Given the description of an element on the screen output the (x, y) to click on. 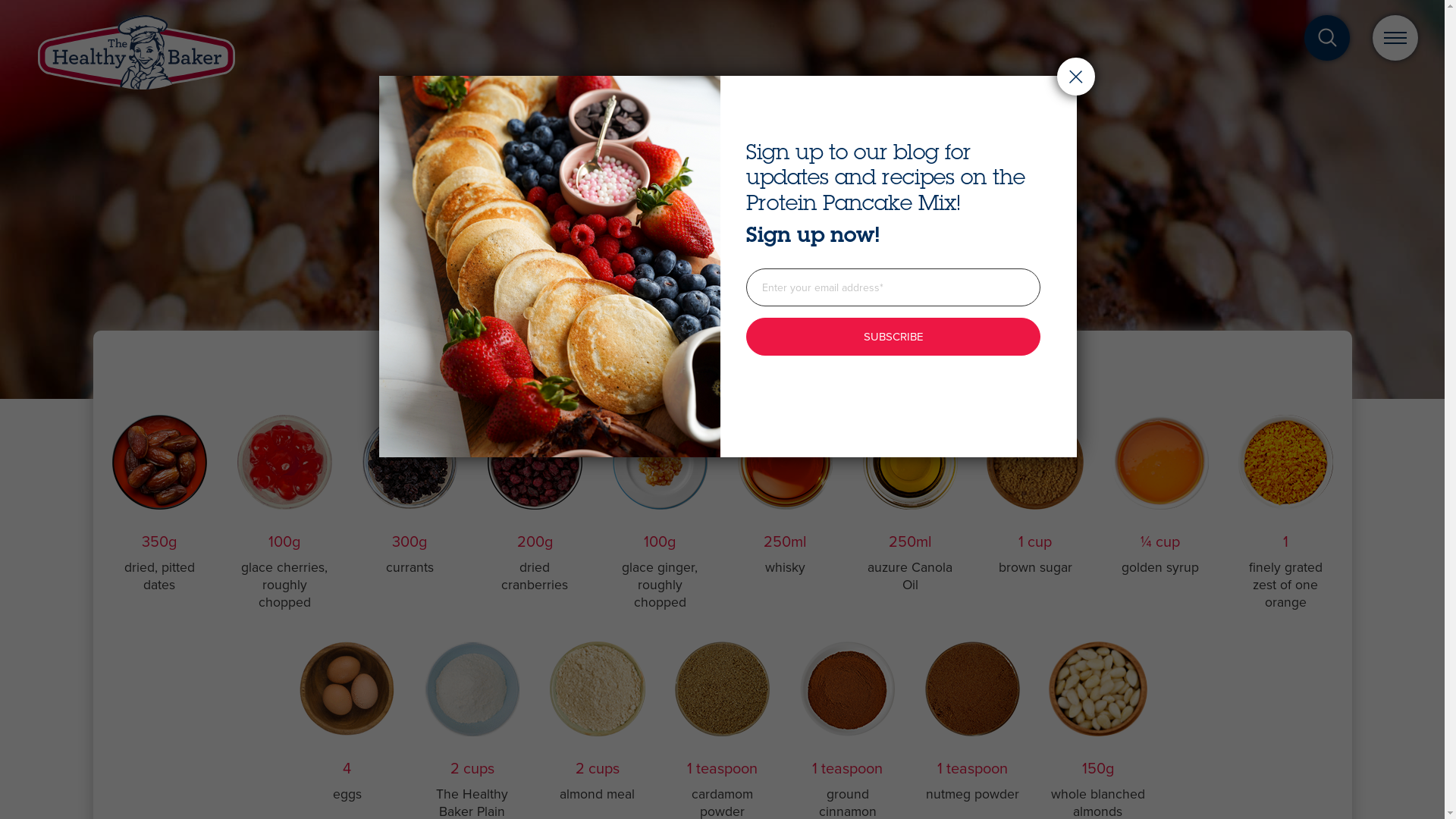
Search Element type: text (850, 405)
+ VIEW IMAGE Element type: text (721, 255)
Submit Element type: text (416, 576)
